Given the description of an element on the screen output the (x, y) to click on. 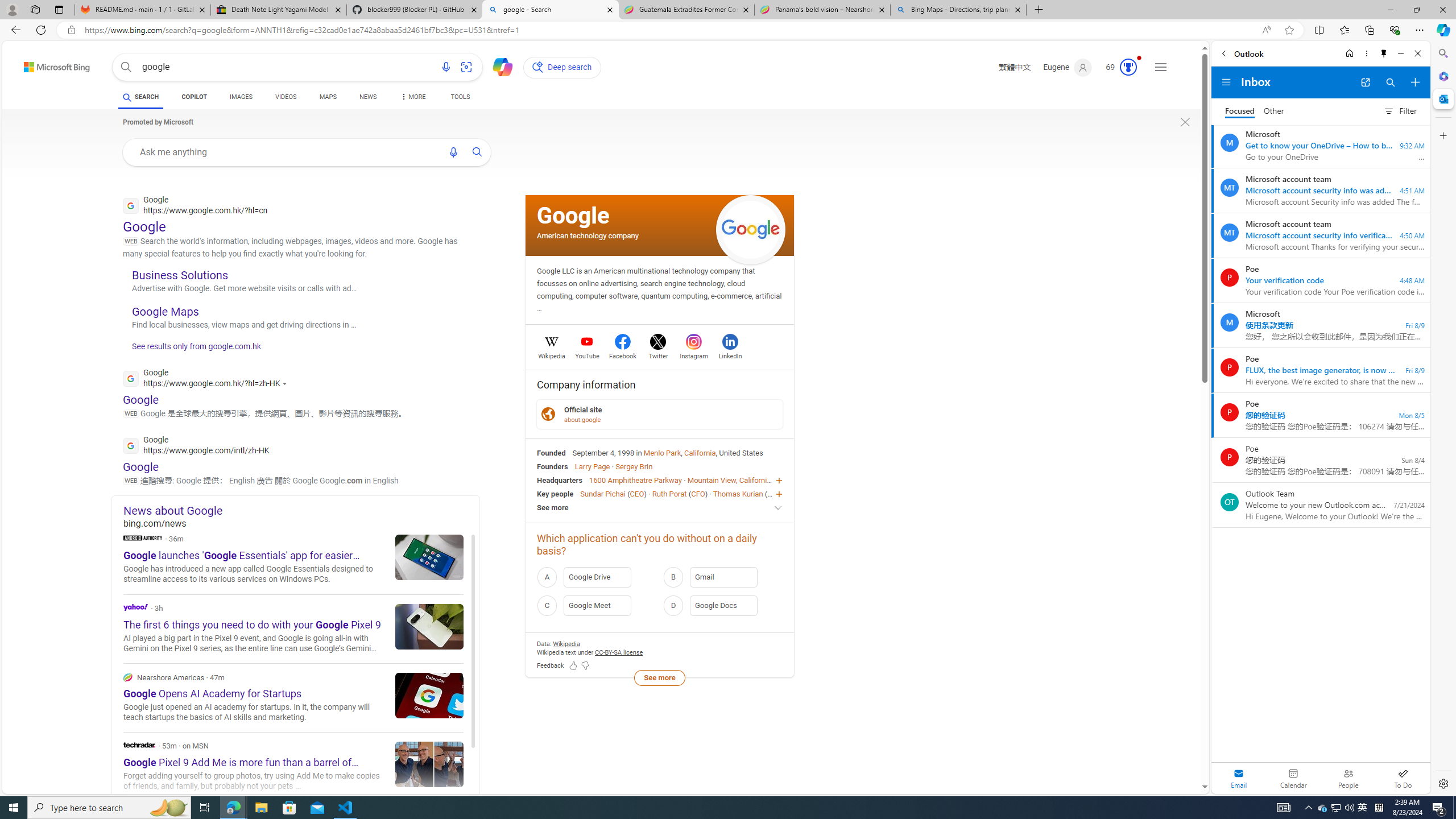
Instagram (693, 354)
Data attribution Wikipedia (566, 643)
Chat (497, 65)
See results only from google.com.hk (191, 348)
Dropdown Menu (412, 96)
App bar (728, 29)
IMAGES (241, 98)
Business Solutions (180, 274)
Unpin side pane (1383, 53)
MORE (412, 98)
Mountain View, California (729, 479)
TOOLS (460, 98)
Close (1417, 53)
